Given the description of an element on the screen output the (x, y) to click on. 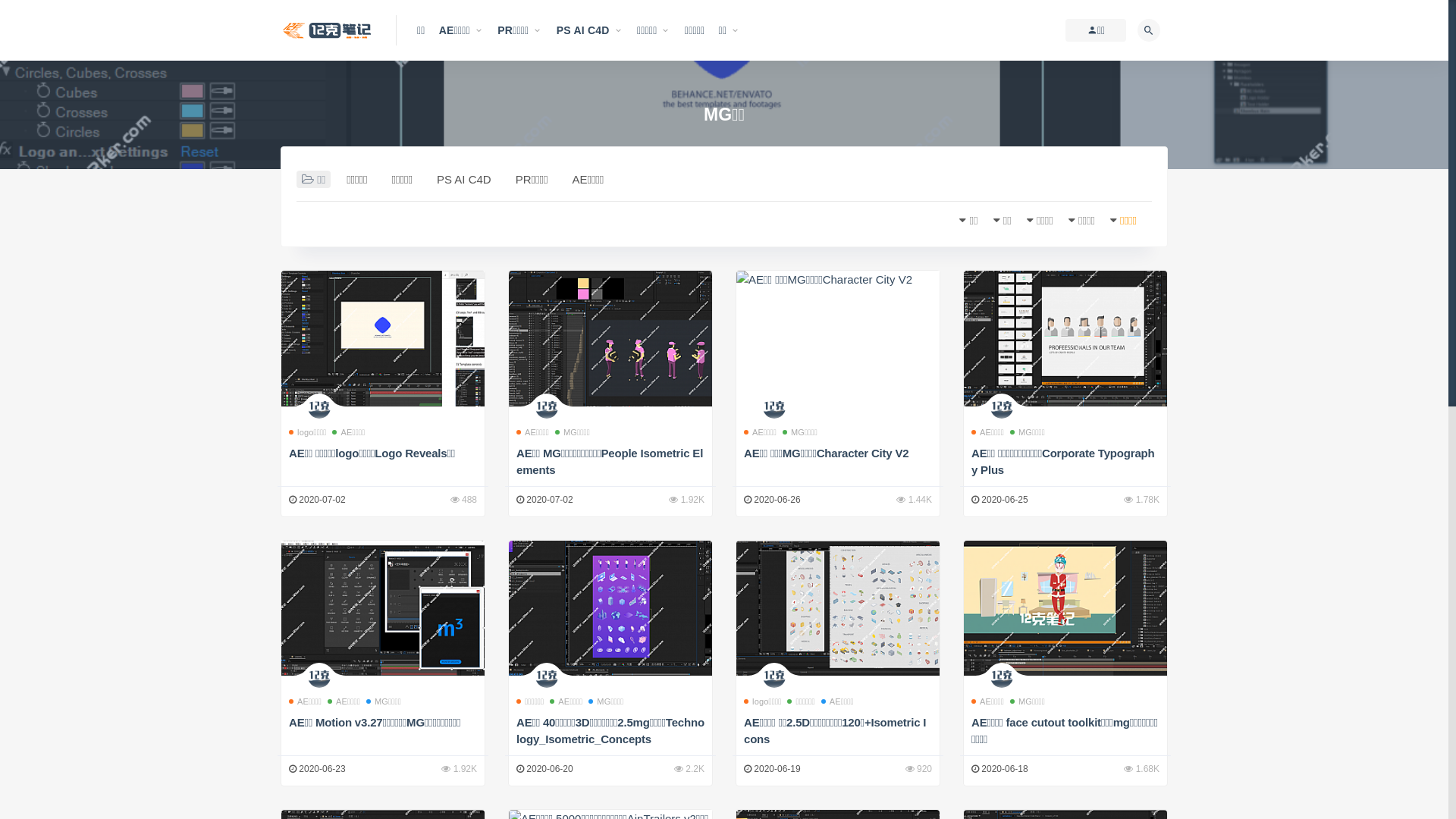
PS AI C4D Element type: text (463, 179)
PS AI C4D Element type: text (589, 30)
